Given the description of an element on the screen output the (x, y) to click on. 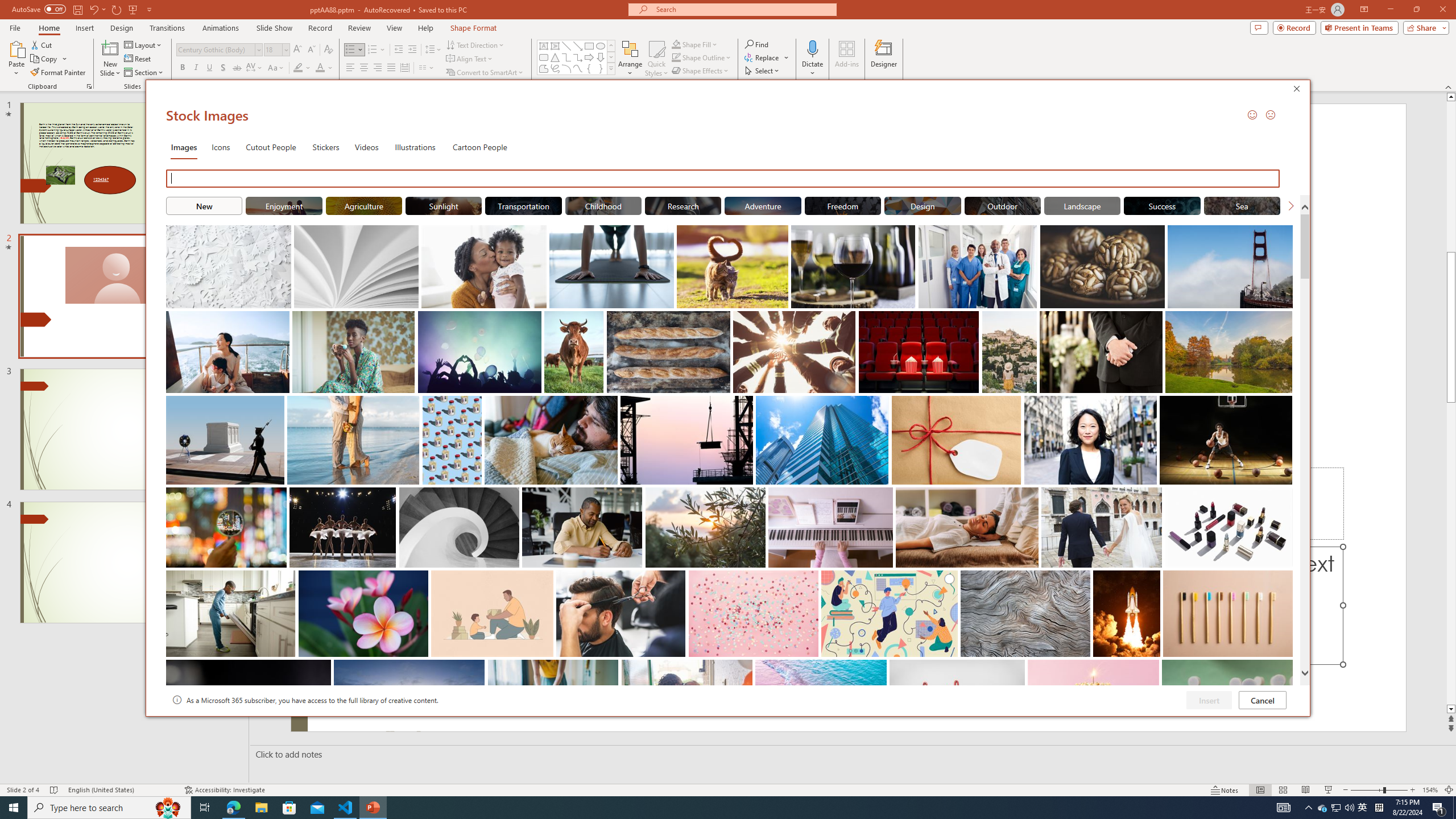
"Adventure" Stock Images. (762, 205)
"Sunlight" Stock Images. (443, 205)
Videos (366, 146)
